Given the description of an element on the screen output the (x, y) to click on. 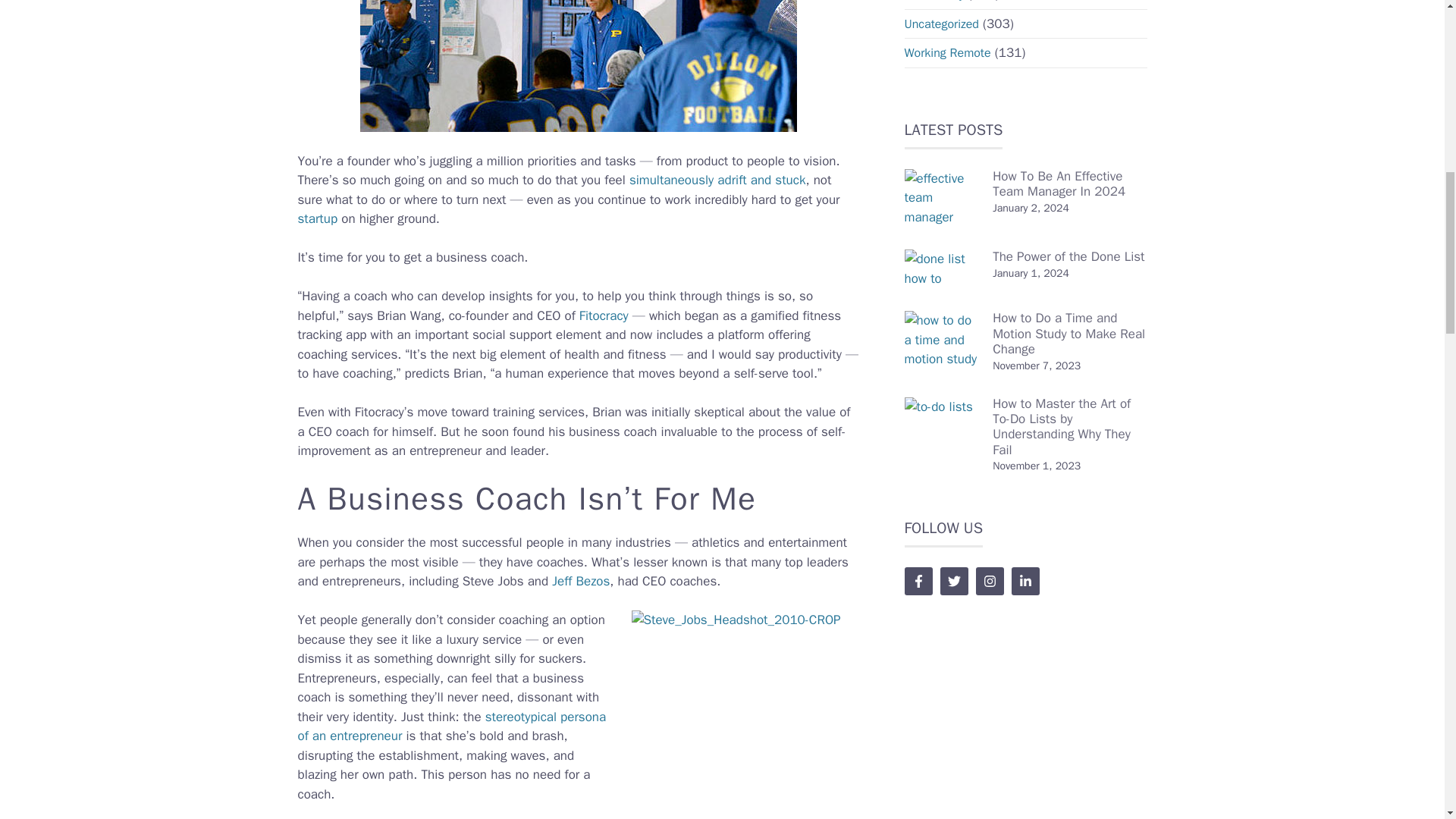
startup (317, 218)
Working Remote (947, 52)
The Risky Mentality that Made Jeff Bezos So Successful (580, 580)
Productivity (933, 1)
stereotypical persona of an entrepreneur (451, 726)
How To Be An Effective Team Manager In 2024 (1058, 183)
The Power of the Done List (1068, 256)
simultaneously adrift and stuck (717, 179)
Jeff Bezos (580, 580)
The Boring Trait Google Looks For in Its Leaders (451, 726)
Fitocracy (603, 315)
Uncategorized (941, 23)
